Given the description of an element on the screen output the (x, y) to click on. 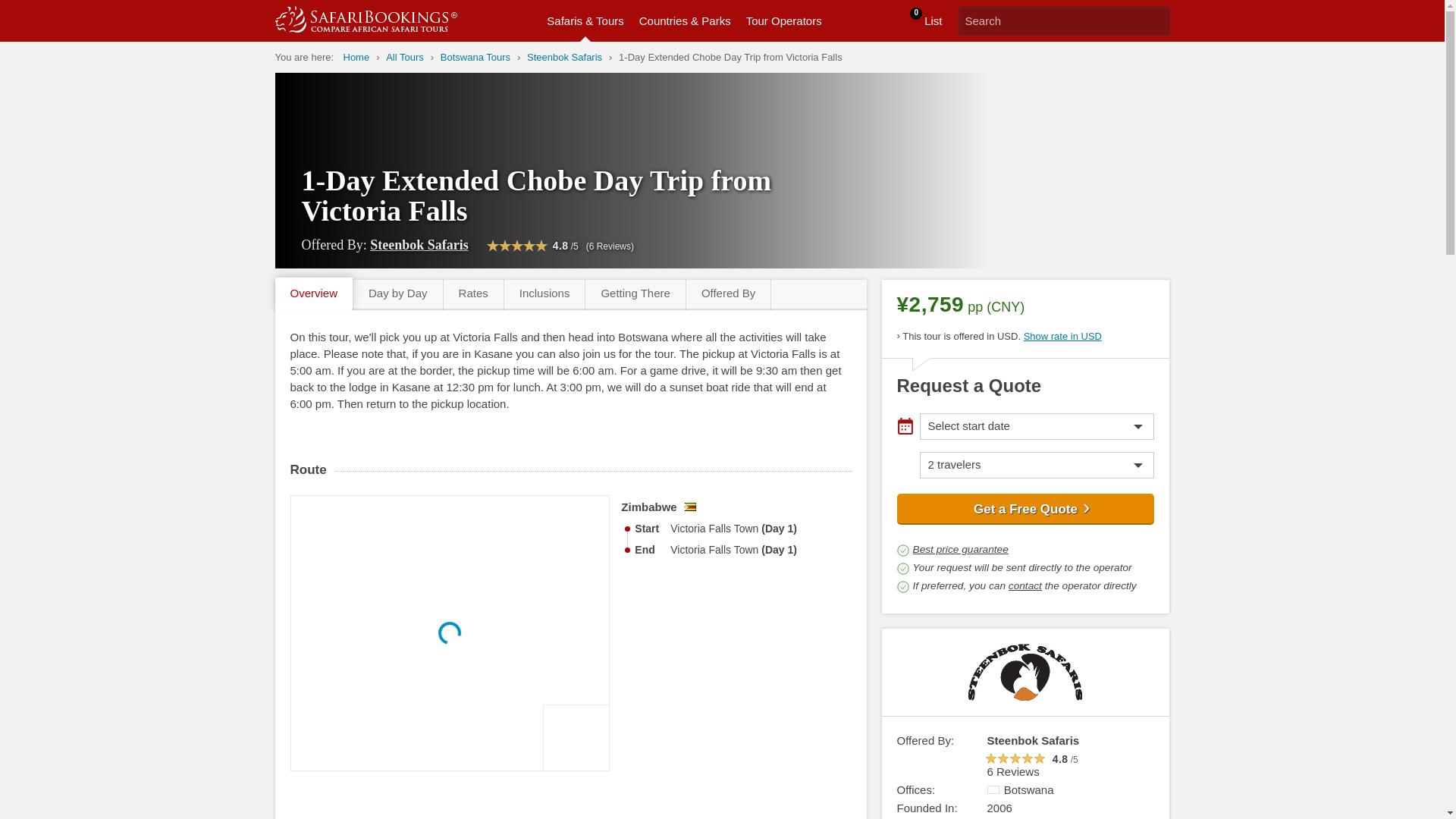
1-Day Extended Chobe Day Trip from Victoria Falls (730, 57)
Botswana (992, 789)
Submit search query (911, 20)
All Tours (1154, 20)
Getting There (404, 57)
Rates (634, 295)
Tour Operators (472, 295)
Offered By (783, 20)
Day by Day (728, 295)
